Given the description of an element on the screen output the (x, y) to click on. 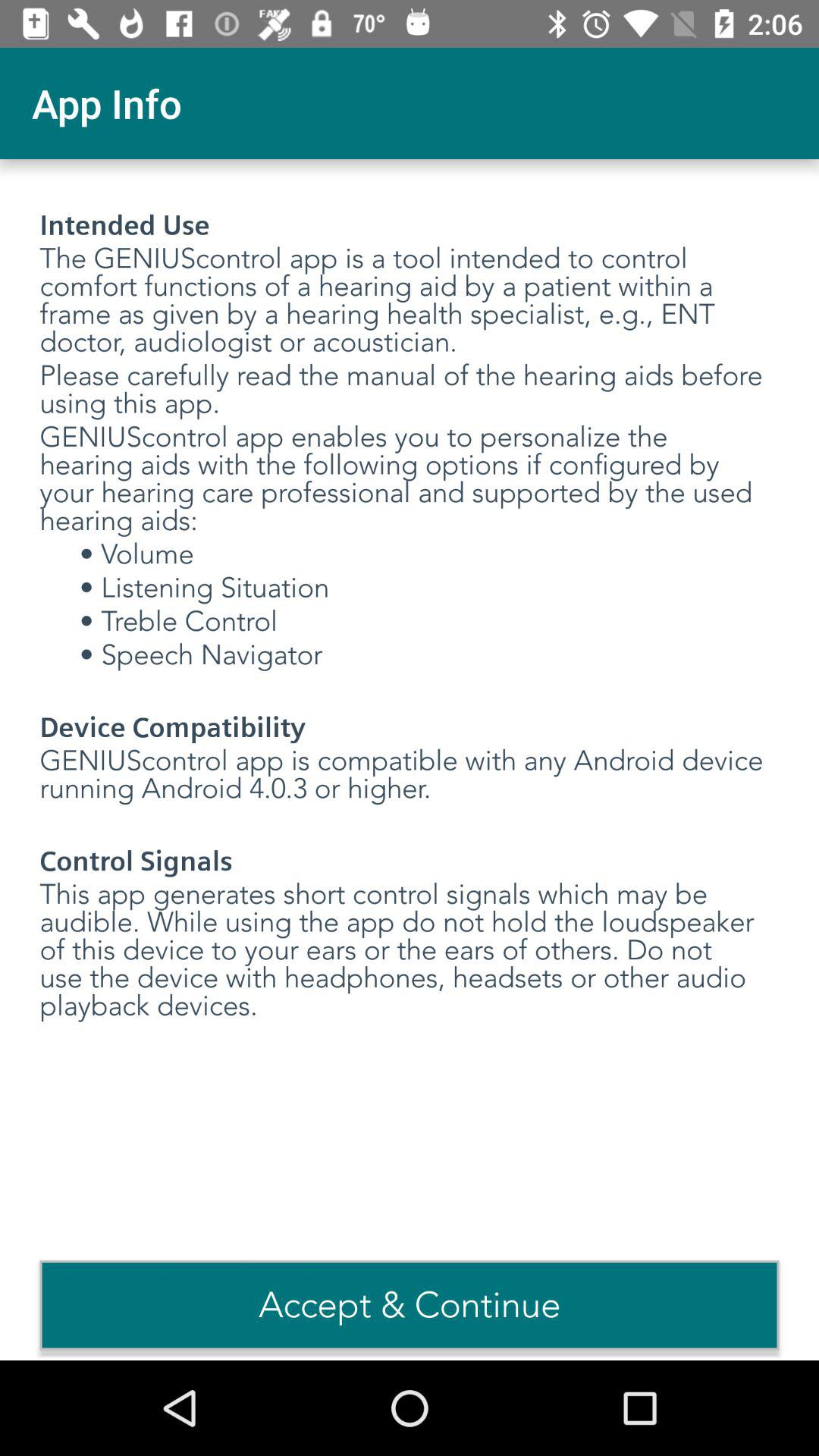
click accept & continue item (409, 1305)
